Given the description of an element on the screen output the (x, y) to click on. 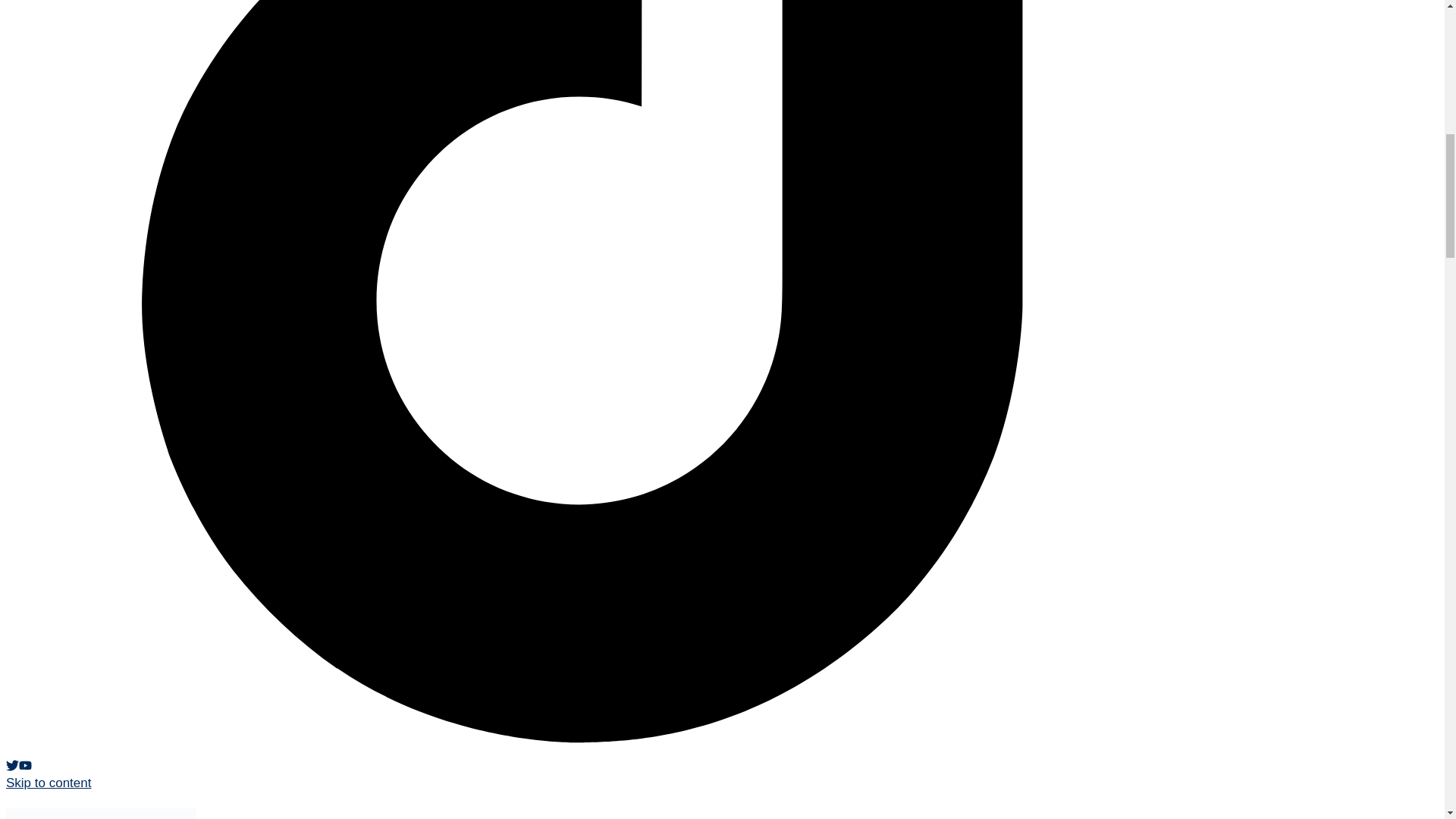
Skip to content (47, 782)
Skip to content (47, 782)
